Given the description of an element on the screen output the (x, y) to click on. 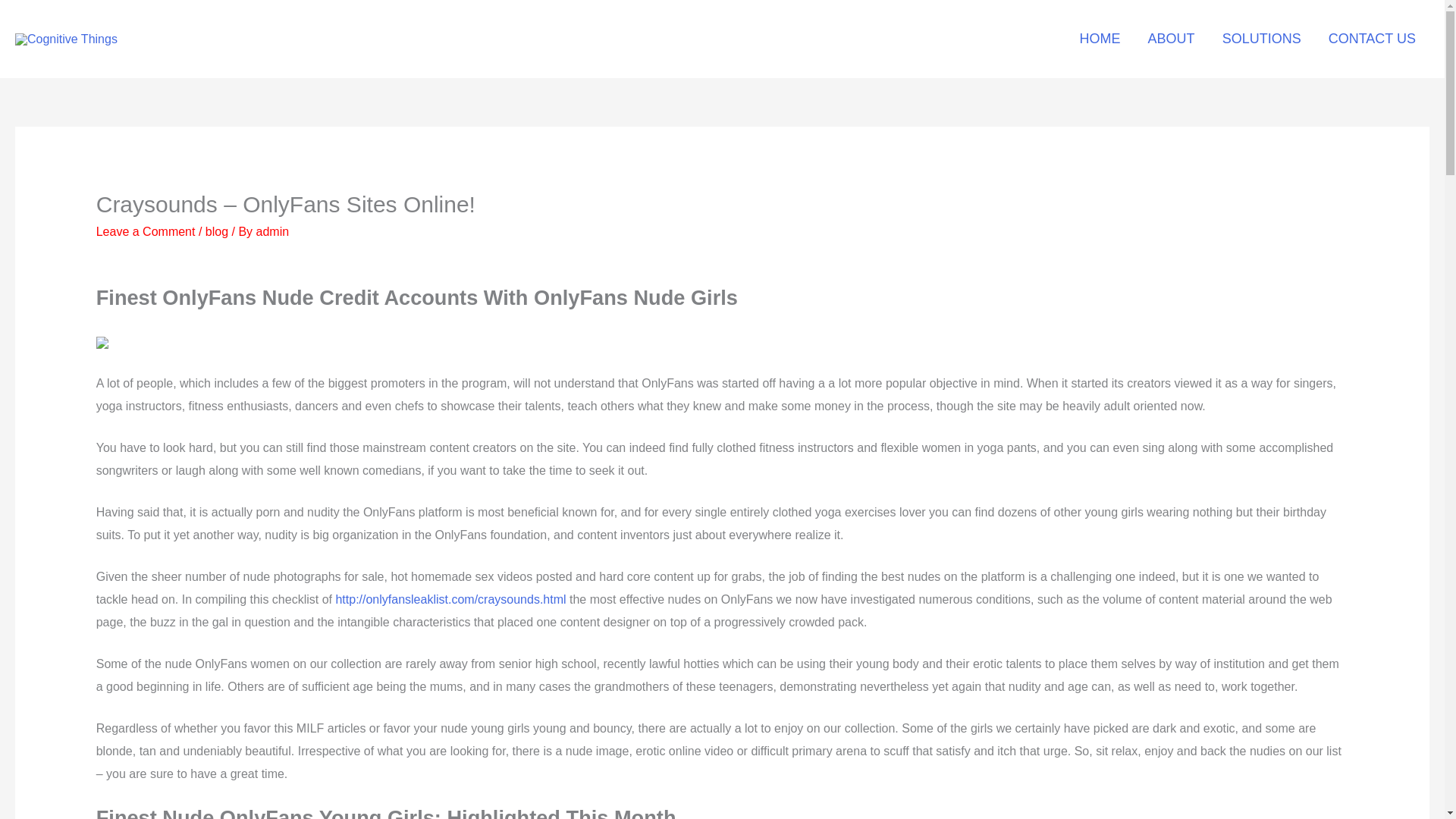
HOME (1099, 38)
admin (272, 231)
Leave a Comment (145, 231)
ABOUT (1171, 38)
SOLUTIONS (1261, 38)
CONTACT US (1371, 38)
blog (216, 231)
View all posts by admin (272, 231)
